Given the description of an element on the screen output the (x, y) to click on. 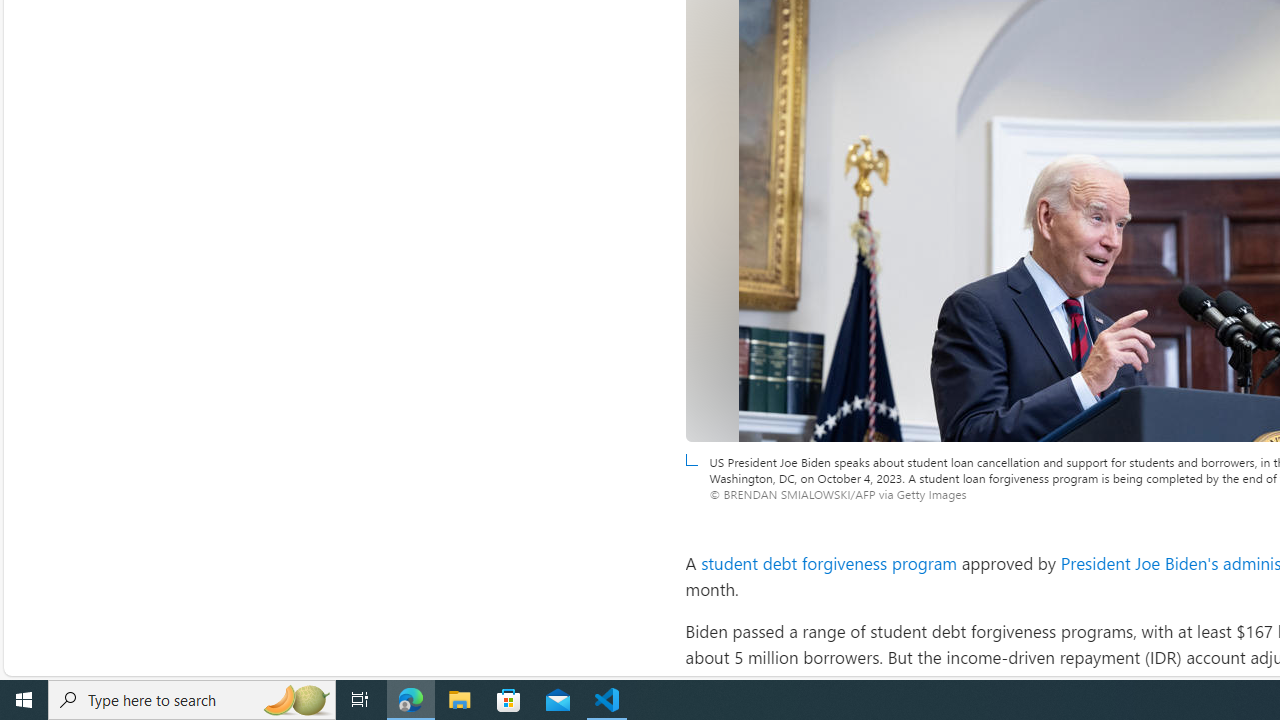
student debt forgiveness program (829, 562)
